Given the description of an element on the screen output the (x, y) to click on. 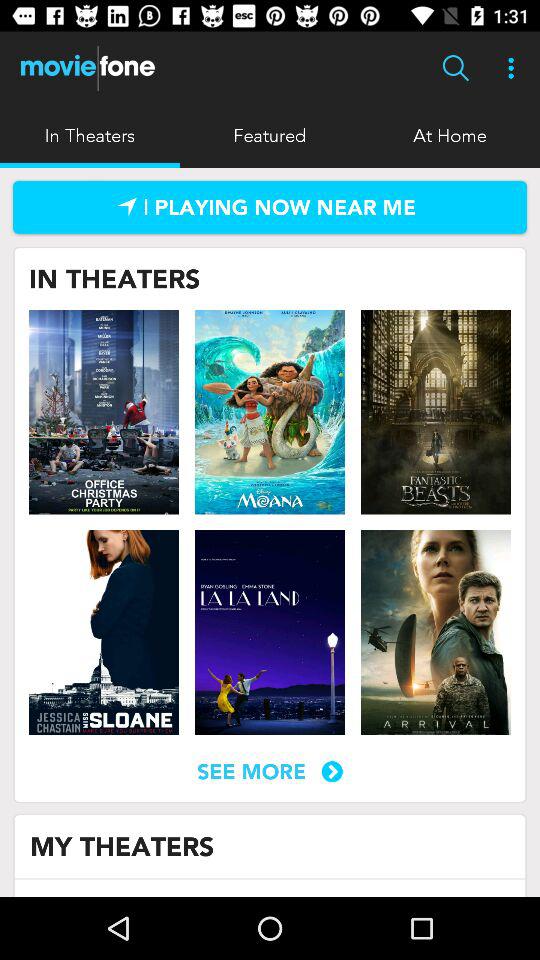
find movies near me (269, 207)
